Given the description of an element on the screen output the (x, y) to click on. 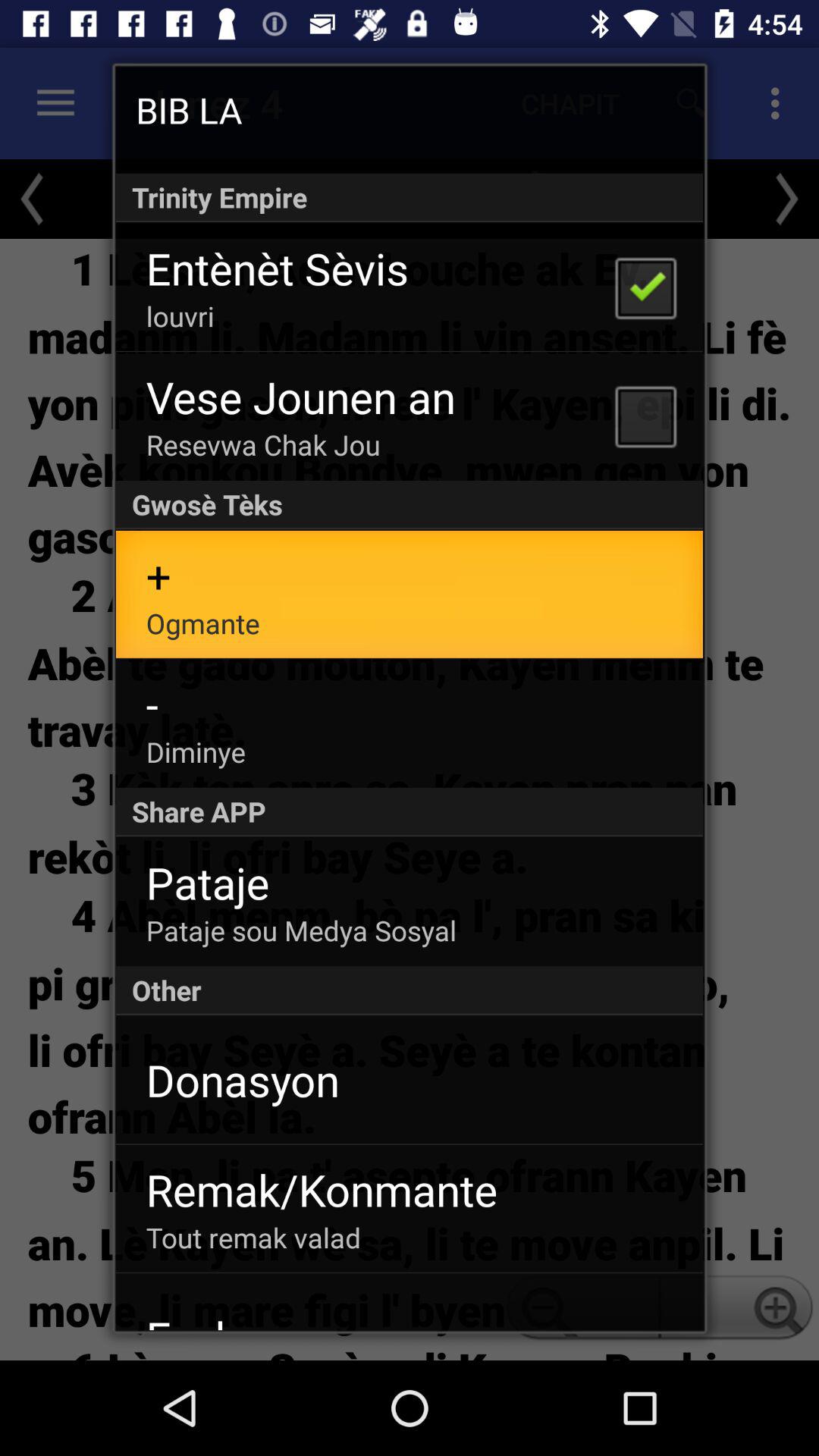
launch app above diminye app (152, 703)
